Given the description of an element on the screen output the (x, y) to click on. 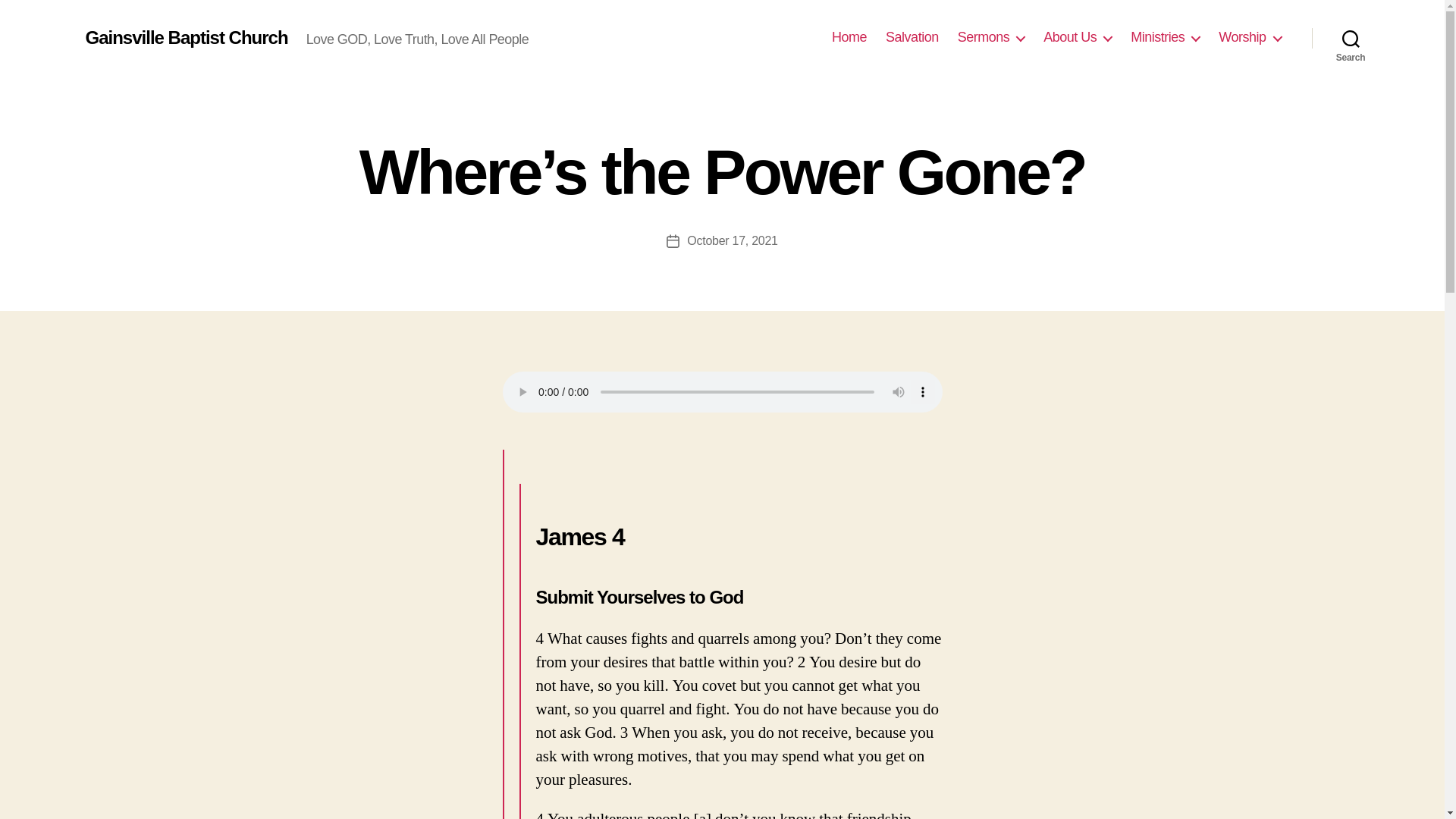
Home (848, 37)
Search (1350, 37)
Worship (1249, 37)
Gainsville Baptist Church (185, 37)
Sermons (991, 37)
Ministries (1165, 37)
About Us (1077, 37)
Salvation (912, 37)
